Given the description of an element on the screen output the (x, y) to click on. 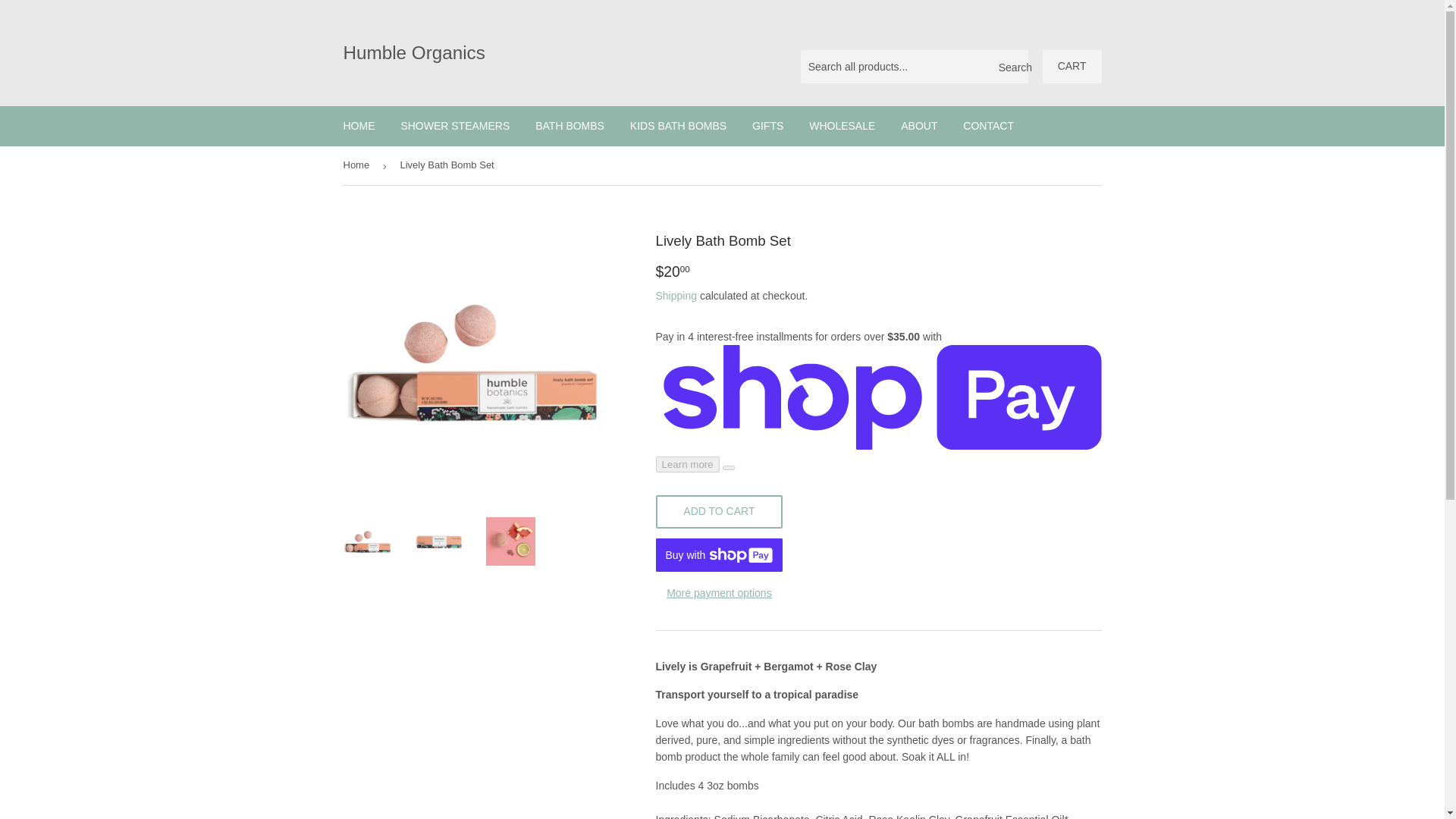
More payment options (719, 592)
CONTACT (988, 125)
ABOUT (919, 125)
BATH BOMBS (569, 125)
CART (1072, 66)
Humble Organics (532, 53)
KIDS BATH BOMBS (678, 125)
Search (1010, 67)
GIFTS (767, 125)
HOME (359, 125)
WHOLESALE (841, 125)
Shipping (676, 295)
ADD TO CART (719, 511)
SHOWER STEAMERS (454, 125)
